Given the description of an element on the screen output the (x, y) to click on. 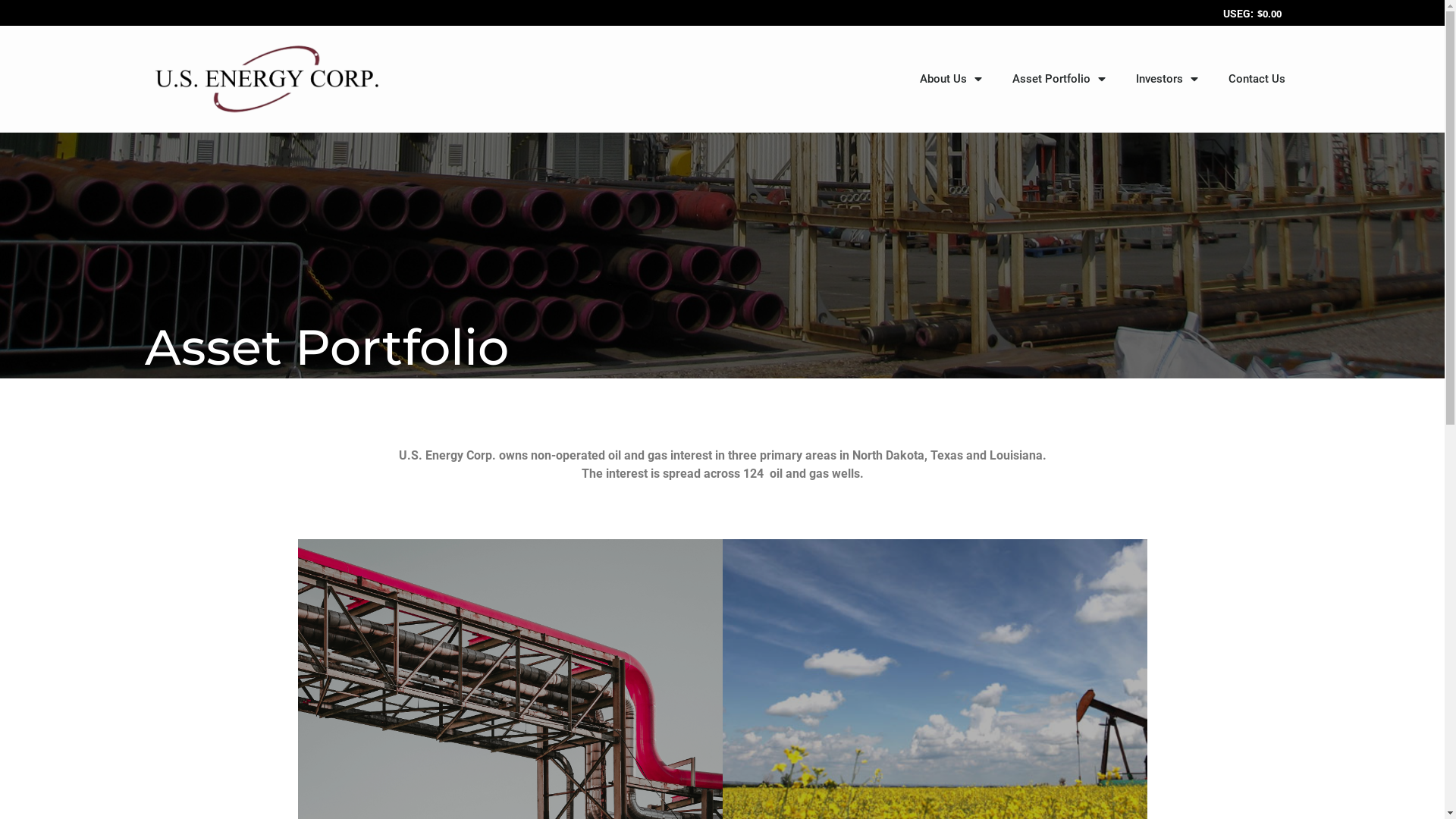
About Us Element type: text (949, 78)
Asset Portfolio Element type: text (1058, 78)
Contact Us Element type: text (1256, 78)
Investors Element type: text (1166, 78)
USEG: Element type: text (1235, 13)
